Given the description of an element on the screen output the (x, y) to click on. 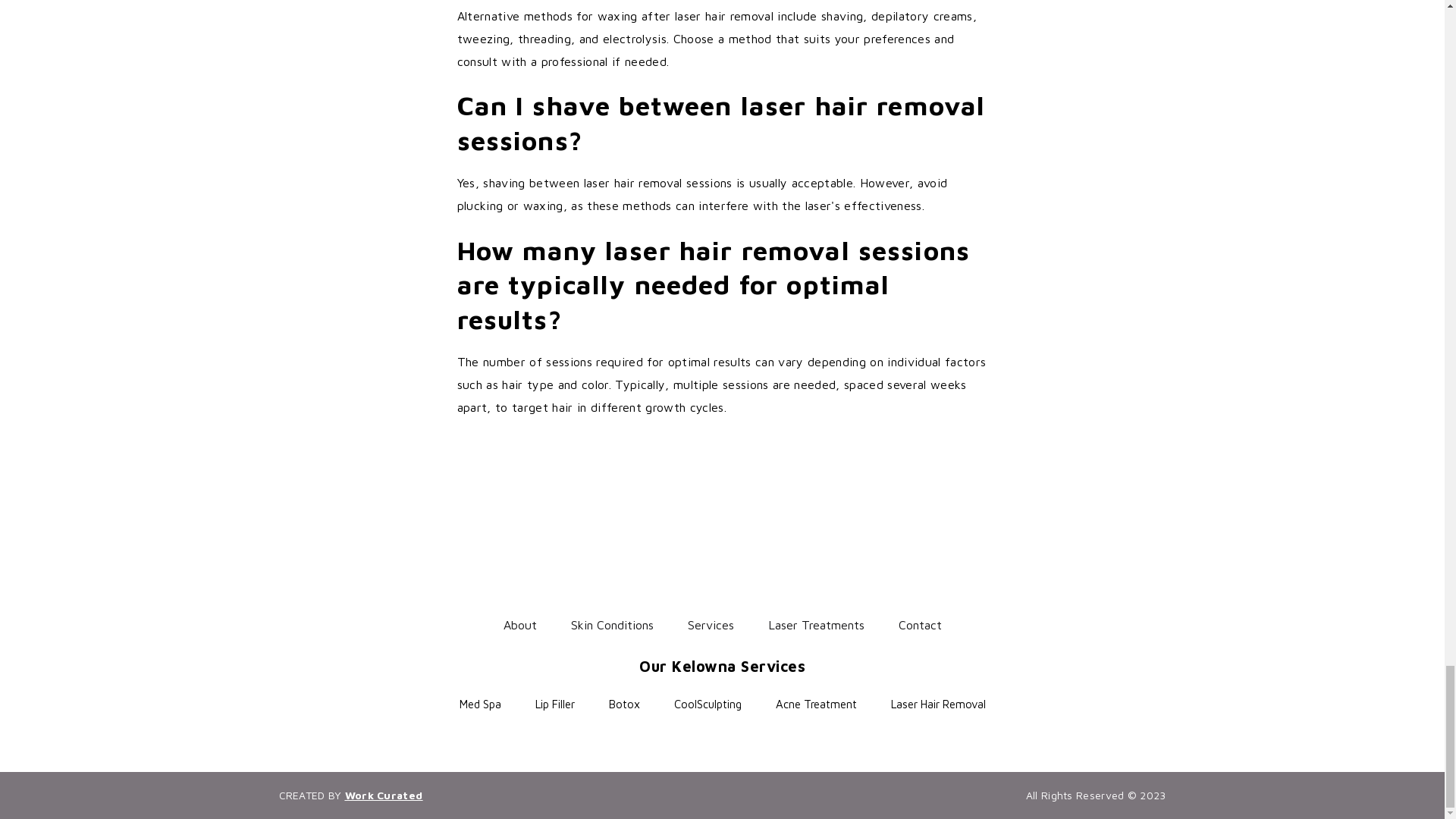
Services (710, 624)
Laser Treatments (815, 624)
About (520, 624)
Skin Conditions (611, 624)
